Given the description of an element on the screen output the (x, y) to click on. 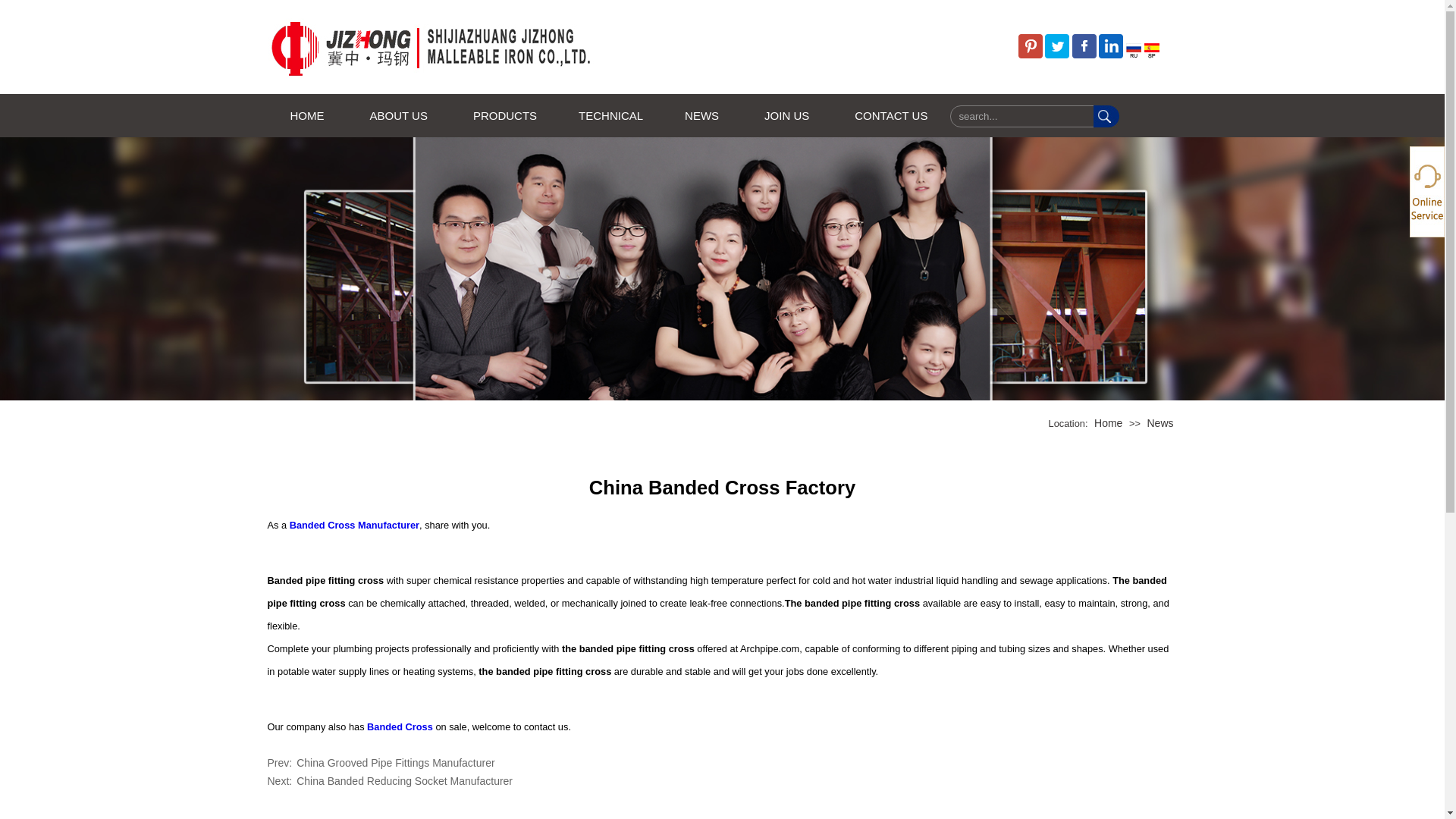
CONTACT US (890, 115)
PRODUCTS (502, 115)
search... (1022, 116)
JOIN US (786, 115)
HOME (306, 115)
ABOUT US (398, 115)
TECHNICAL (609, 115)
NEWS (701, 115)
